Given the description of an element on the screen output the (x, y) to click on. 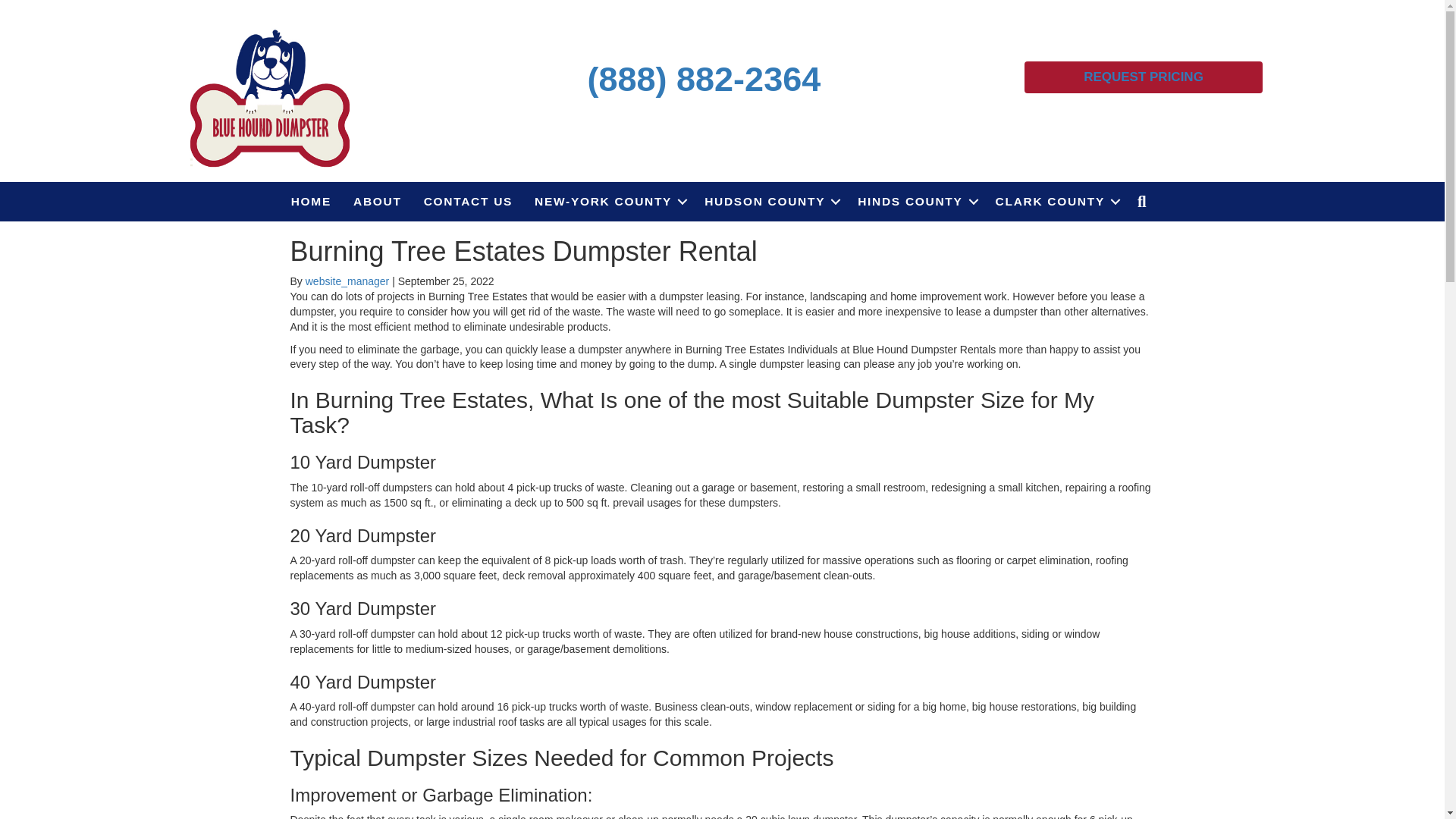
NEW-YORK COUNTY (608, 201)
Skip to content (34, 6)
CONTACT US (467, 201)
HOME (311, 201)
HUDSON COUNTY (769, 201)
HINDS COUNTY (915, 201)
bluehounddumpster (269, 96)
REQUEST PRICING (1144, 77)
ABOUT (377, 201)
CLARK COUNTY (1055, 201)
